Given the description of an element on the screen output the (x, y) to click on. 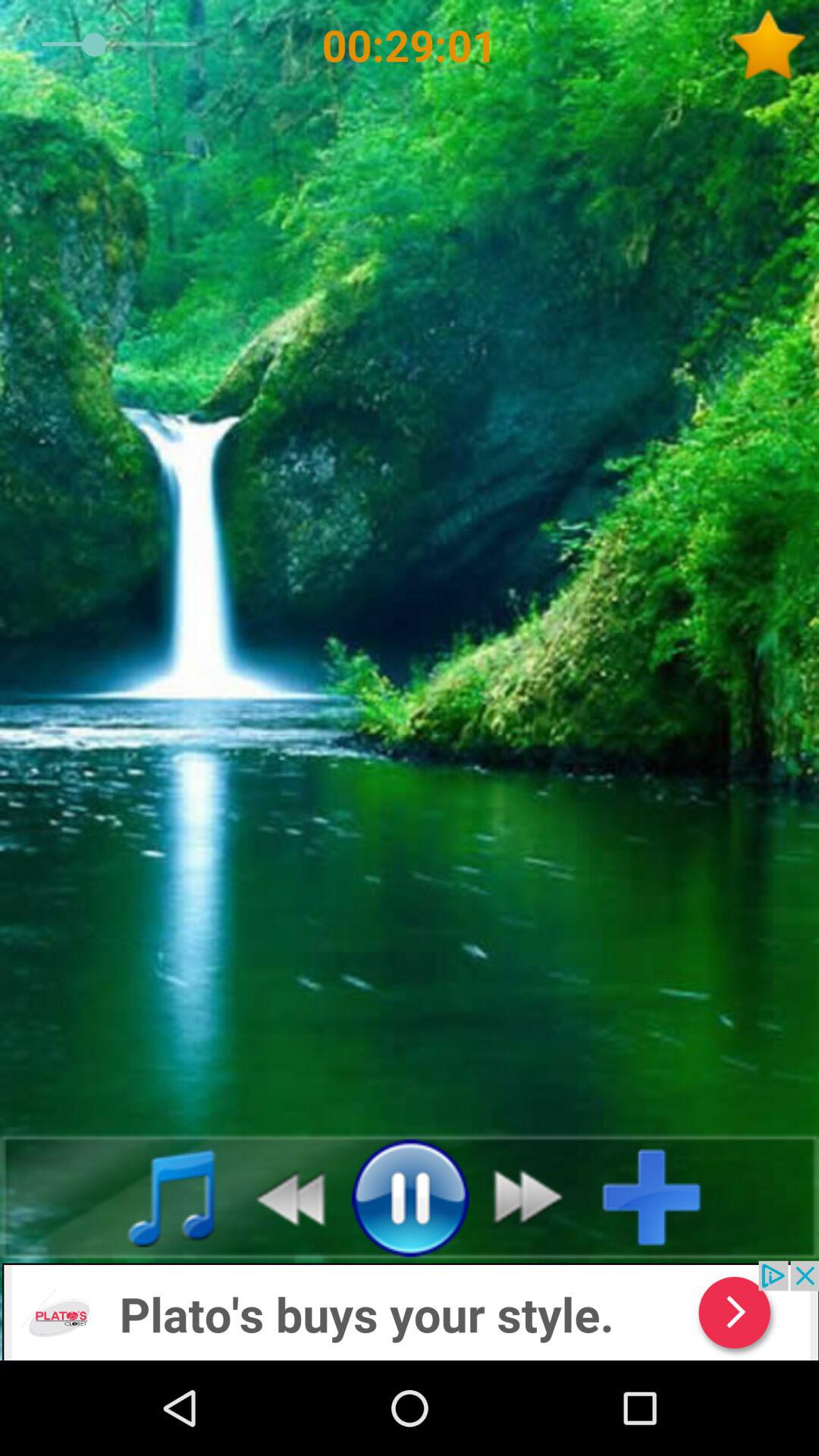
skip sound (536, 1196)
